Given the description of an element on the screen output the (x, y) to click on. 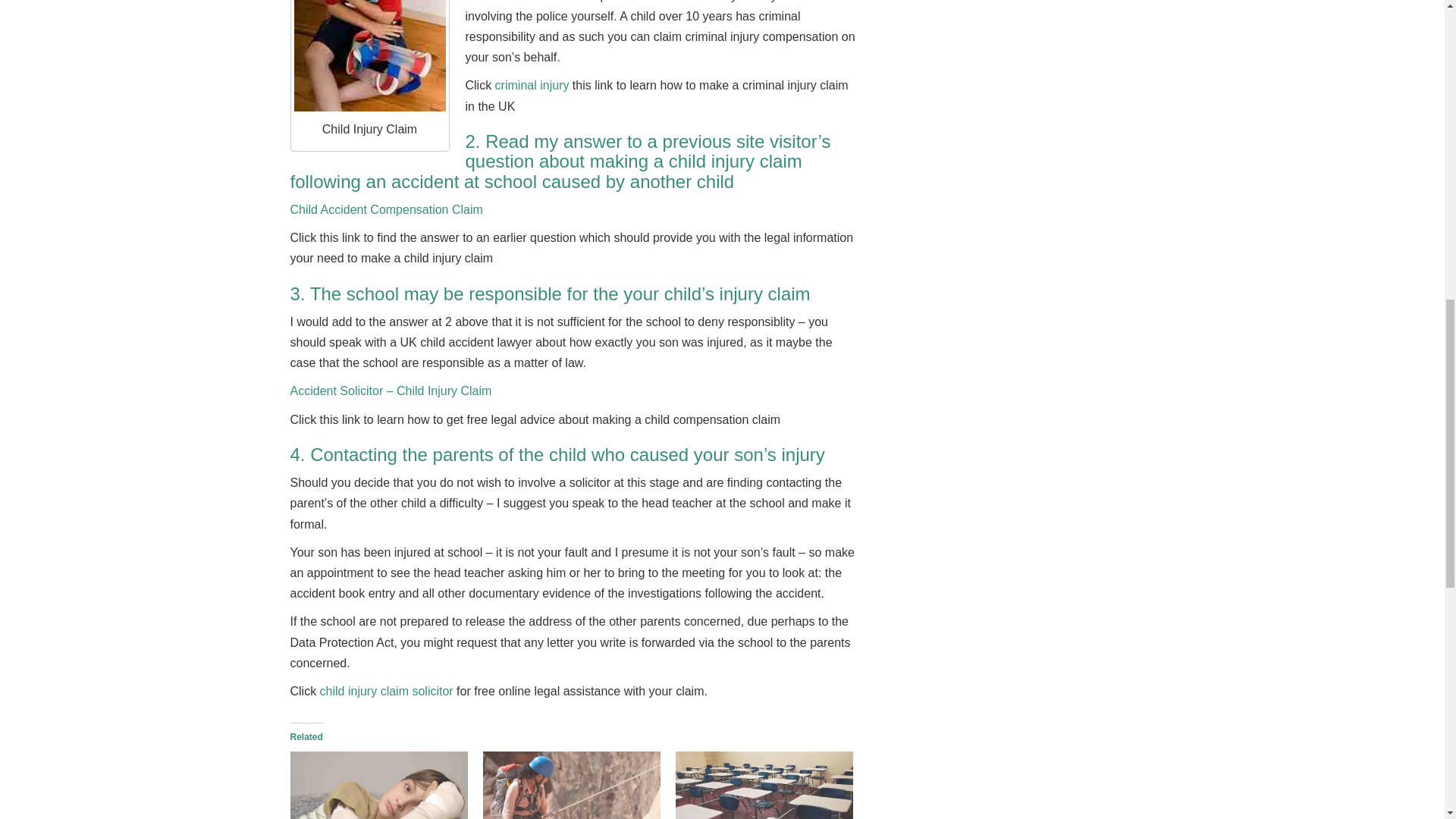
School Accident Claims (764, 785)
Child Accident Compensation Claim (378, 785)
Activity Holiday Accident (572, 785)
